Given the description of an element on the screen output the (x, y) to click on. 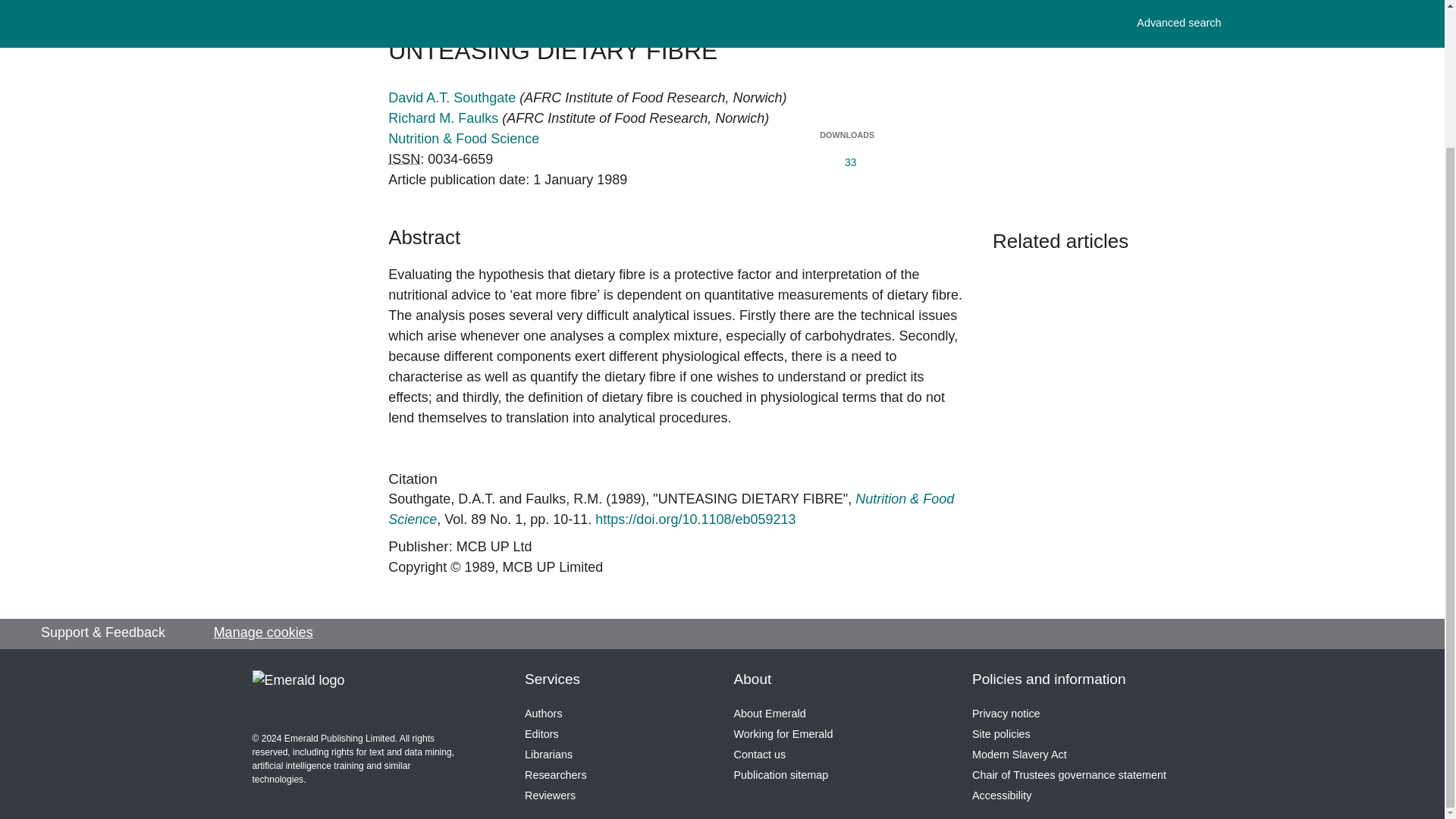
Contact us (759, 754)
Richard M. Faulks (445, 118)
David A.T. Southgate (453, 97)
Modern Slavery Act (1019, 754)
Editors (541, 734)
David A.T. Southgate (441, 498)
Richard M. Faulks (563, 498)
Working for Emerald (782, 734)
About Emerald (769, 713)
Southgate, D.A.T. (441, 498)
